Given the description of an element on the screen output the (x, y) to click on. 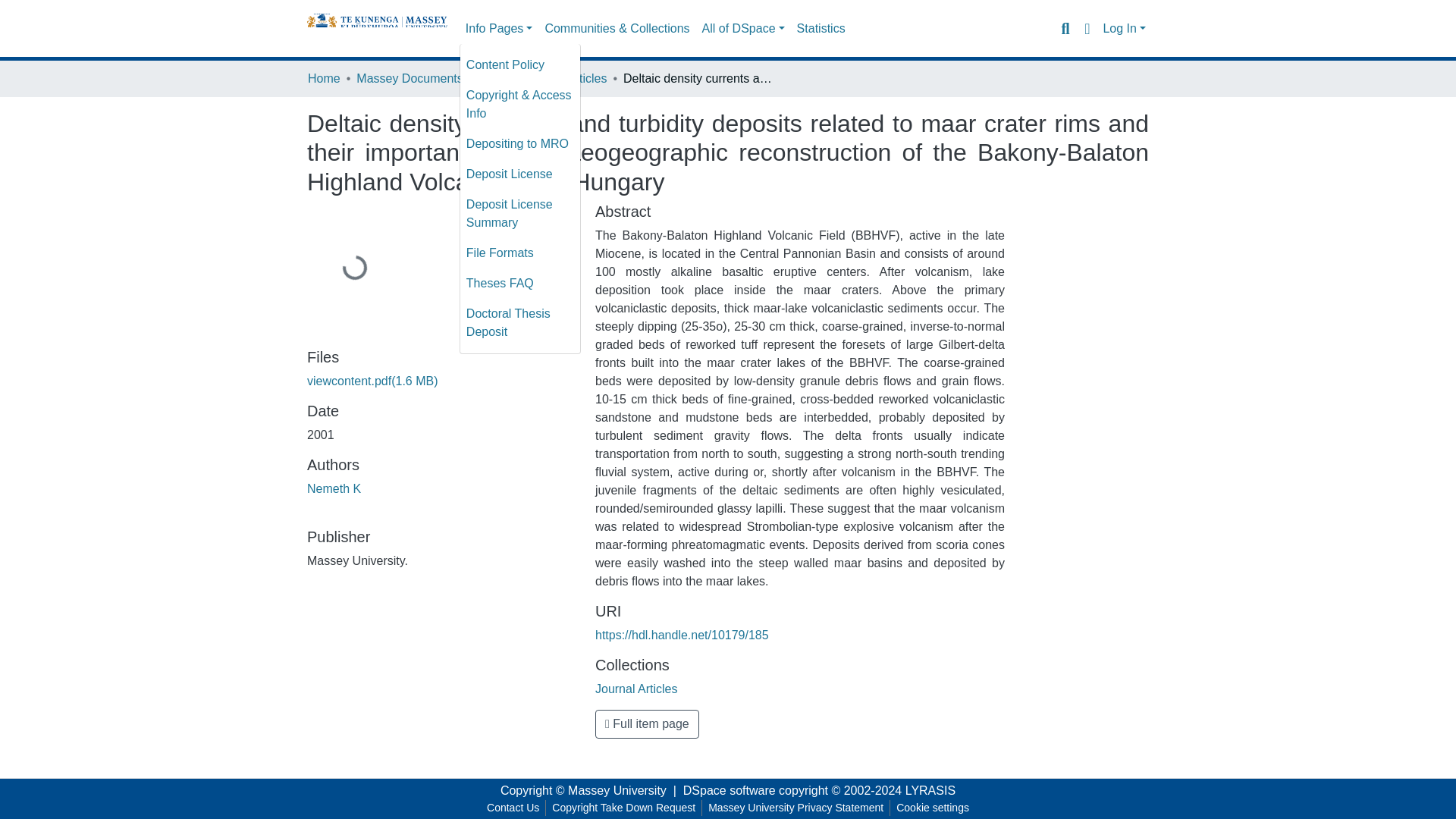
Depositing to MRO (519, 143)
DSpace software (729, 789)
Language switch (1086, 28)
Full item page (646, 724)
Doctoral Thesis Deposit (519, 322)
Theses FAQ (519, 283)
Nemeth K (334, 488)
Massey Documents by Type (432, 78)
Home (323, 78)
Statistics (820, 28)
